Given the description of an element on the screen output the (x, y) to click on. 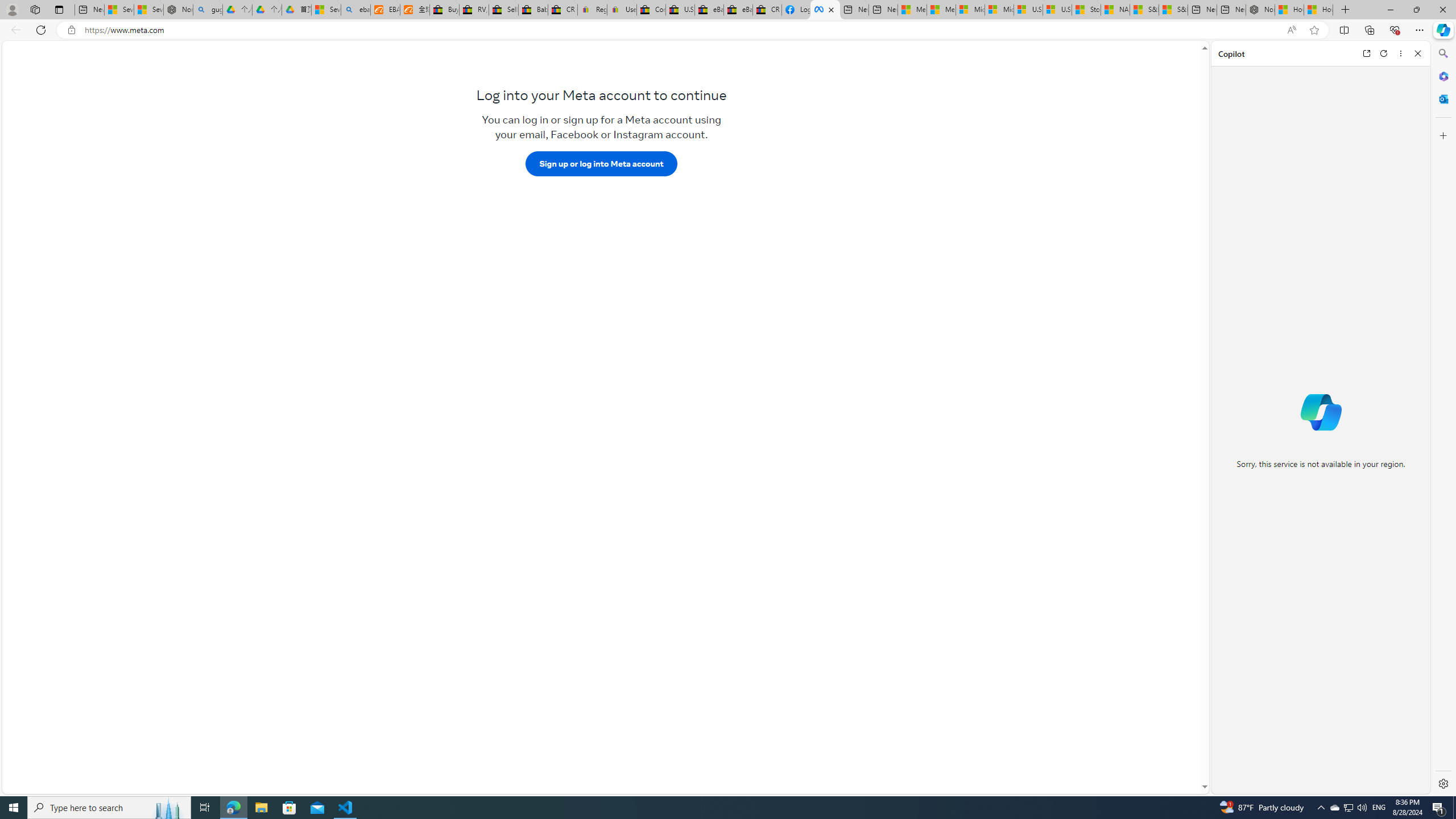
User Privacy Notice | eBay (622, 9)
Buy Auto Parts & Accessories | eBay (444, 9)
guge yunpan - Search (207, 9)
How to Use a Monitor With Your Closed Laptop (1318, 9)
Consumer Health Data Privacy Policy - eBay Inc. (651, 9)
Sign up or log into Meta account (601, 163)
Meta Store (825, 9)
